Given the description of an element on the screen output the (x, y) to click on. 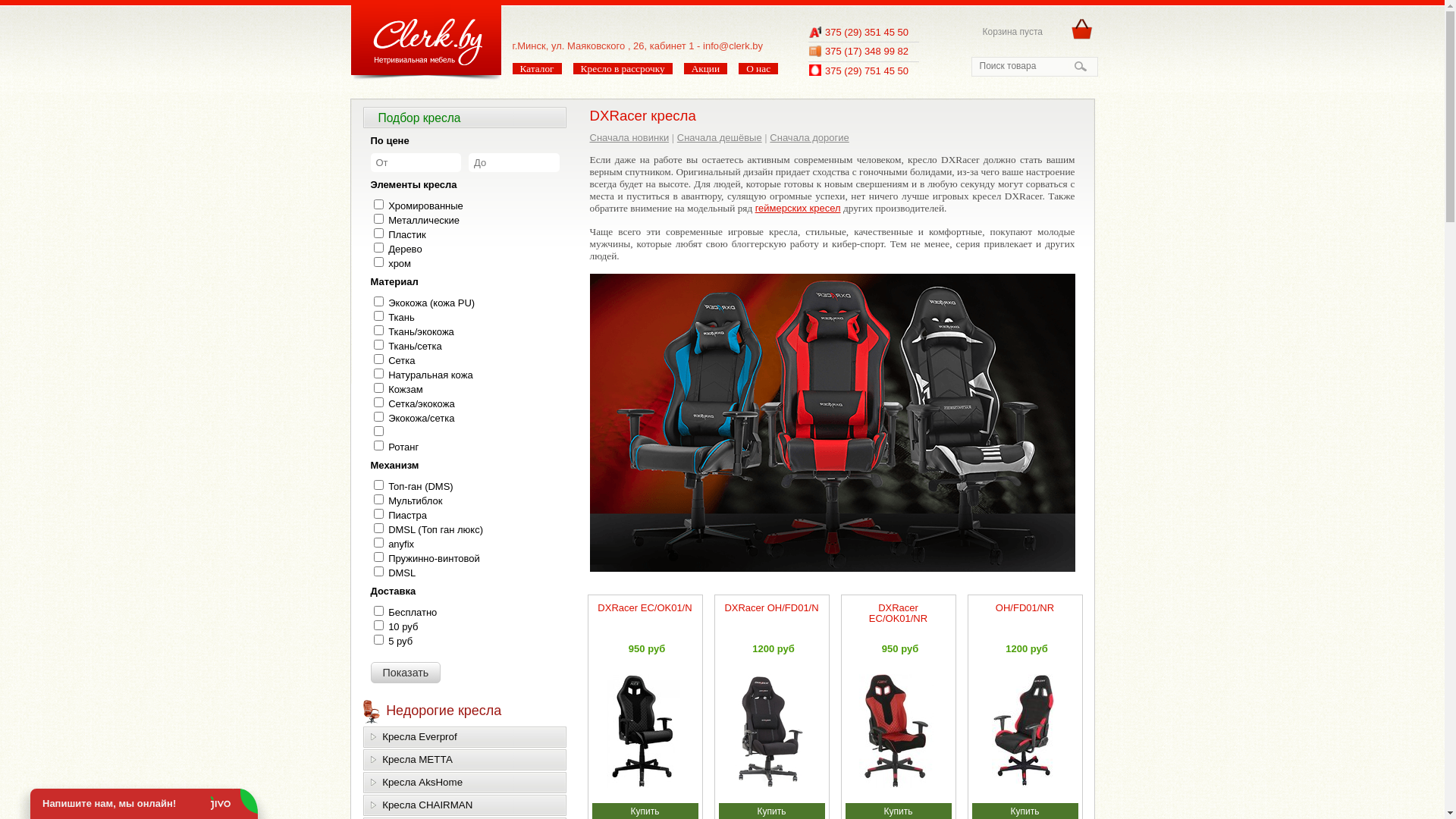
375 (29) 351 45 50 Element type: text (866, 31)
375 (17) 348 99 82 Element type: text (866, 50)
375 (29) 751 45 50 Element type: text (866, 70)
DXRacer EC/OK01/NR Element type: text (898, 613)
DXRacer EC/OK01/N Element type: text (644, 607)
OH/FD01/NR Element type: text (1024, 607)
DXRacer OH/FD01/N Element type: text (771, 607)
